Given the description of an element on the screen output the (x, y) to click on. 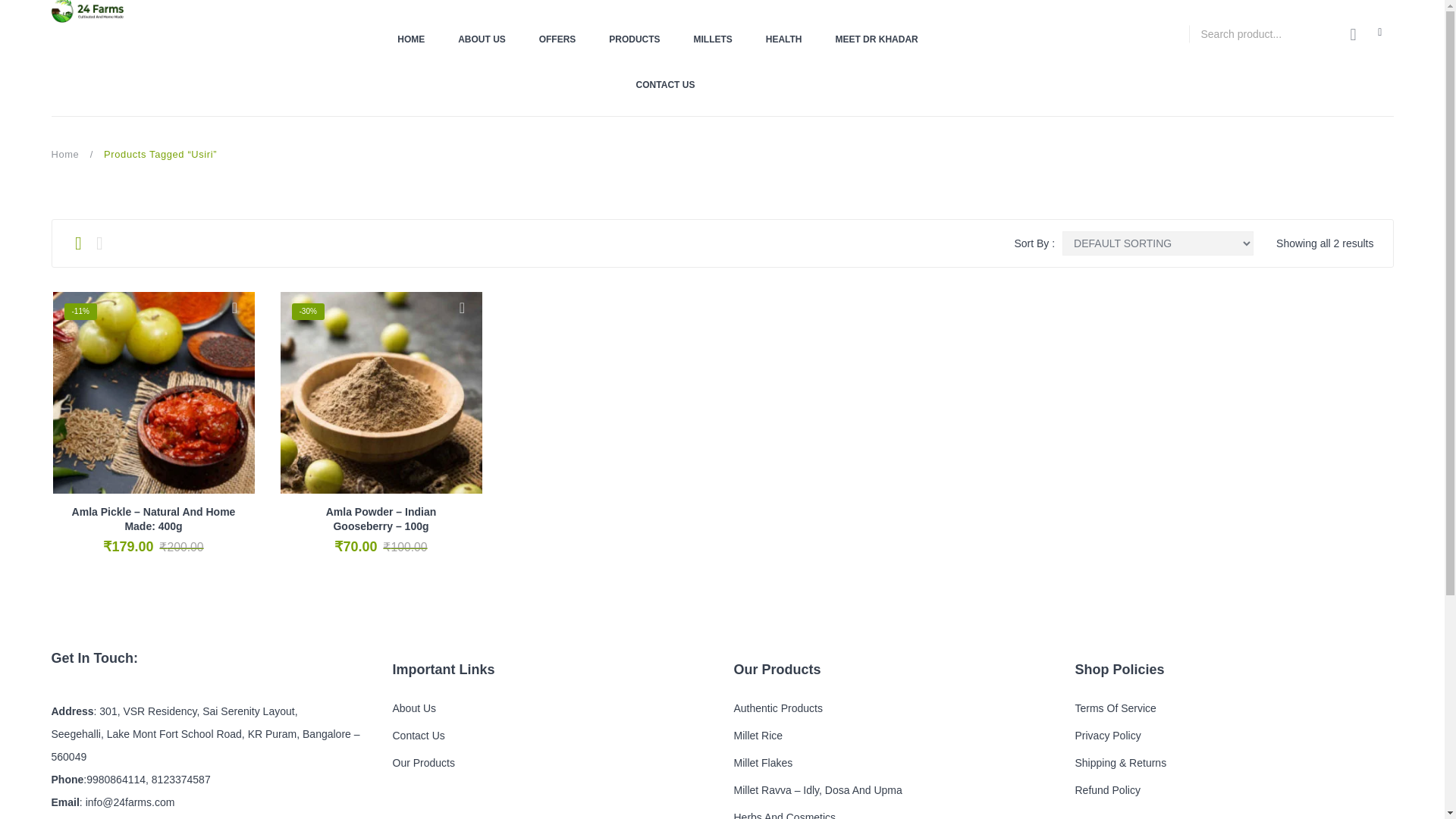
Search product... (1261, 33)
HOME (418, 39)
ABOUT US (481, 39)
PRODUCTS (634, 39)
OFFERS (557, 39)
